Given the description of an element on the screen output the (x, y) to click on. 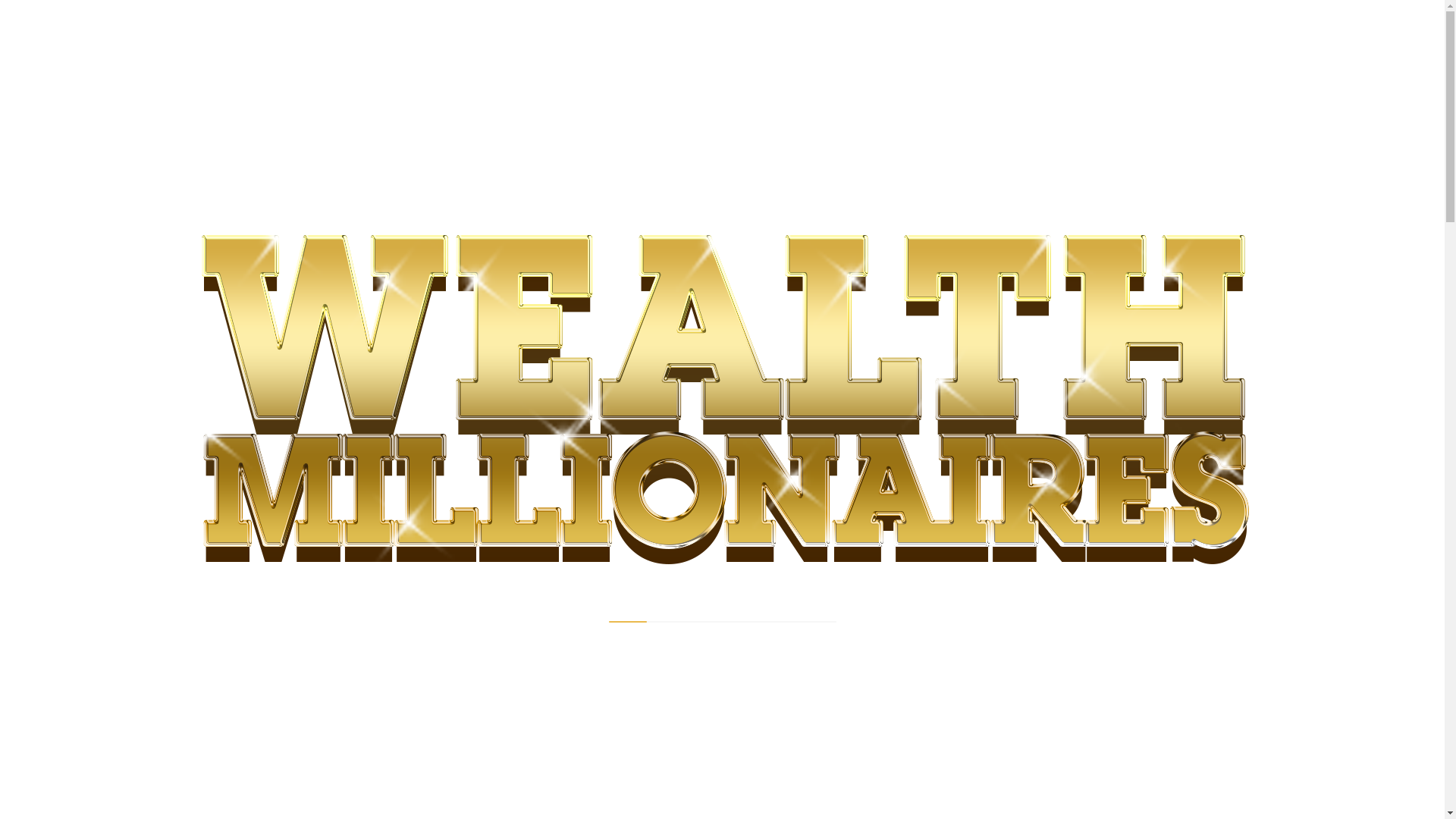
Home (314, 289)
News (359, 289)
NEWS (322, 345)
News (359, 289)
Home (314, 289)
